Given the description of an element on the screen output the (x, y) to click on. 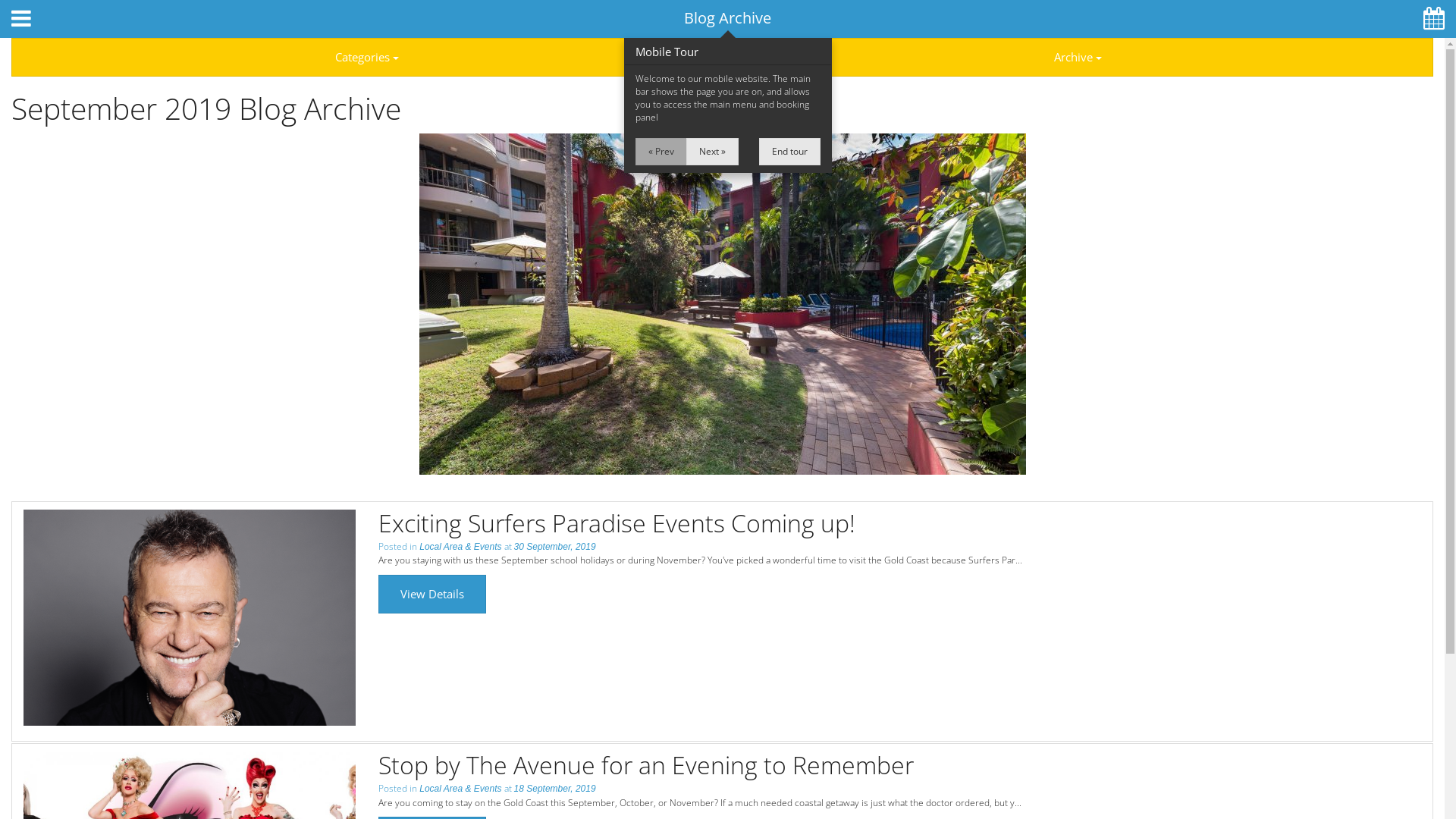
Categories Element type: text (366, 56)
Book Now Element type: text (1341, 178)
End tour Element type: text (789, 151)
View Details Element type: text (432, 593)
Jimmyb Element type: hover (189, 617)
Archive Element type: text (1077, 56)
Submit Element type: text (200, 86)
